Given the description of an element on the screen output the (x, y) to click on. 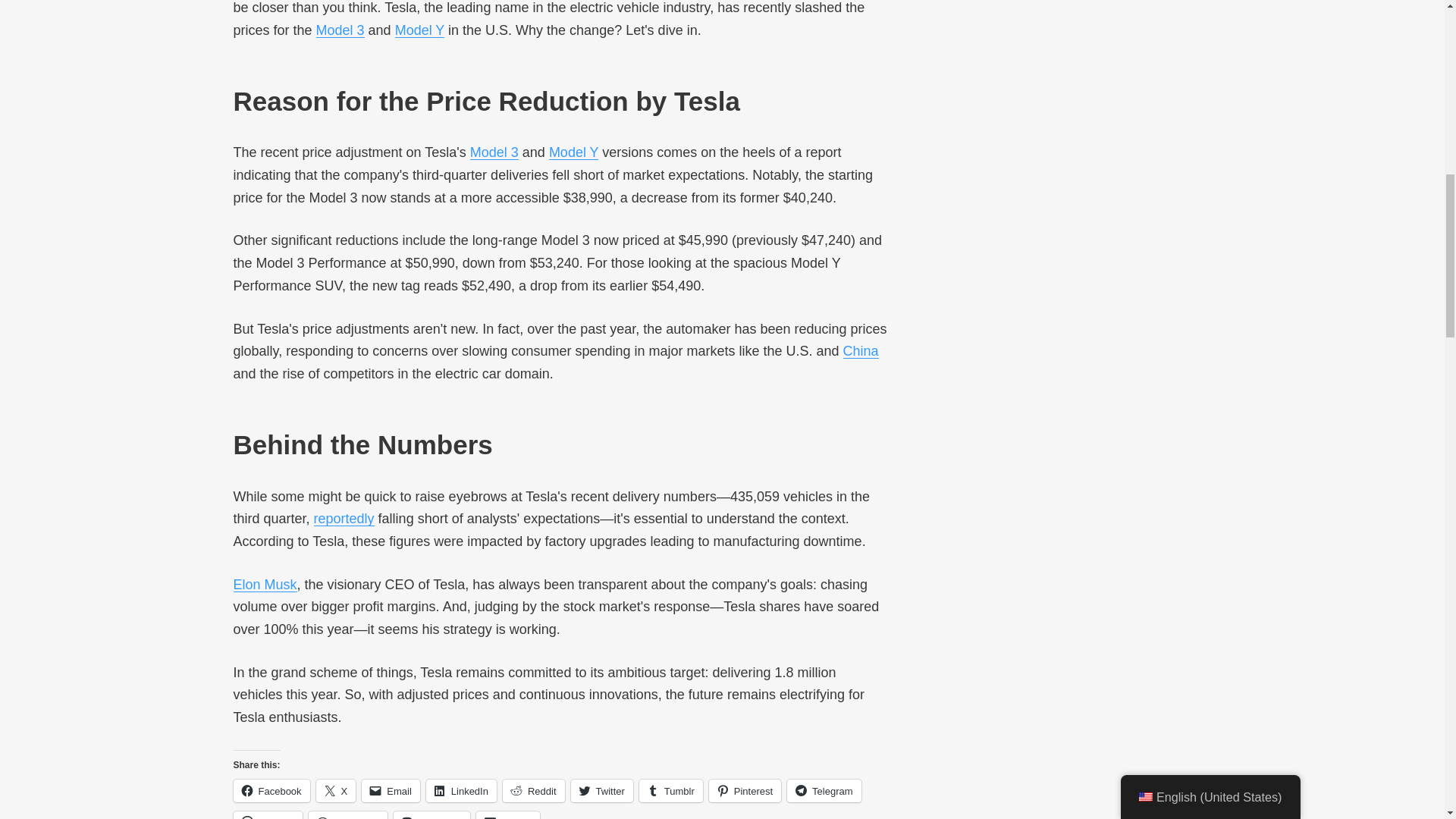
reportedly (344, 518)
China (861, 350)
Click to share on LinkedIn (461, 790)
Elon Musk (264, 584)
X (335, 790)
Tumblr (671, 790)
Posts tagged with China (861, 350)
Click to email a link to a friend (390, 790)
Posts tagged with Model 3 (340, 29)
Email (390, 790)
